Given the description of an element on the screen output the (x, y) to click on. 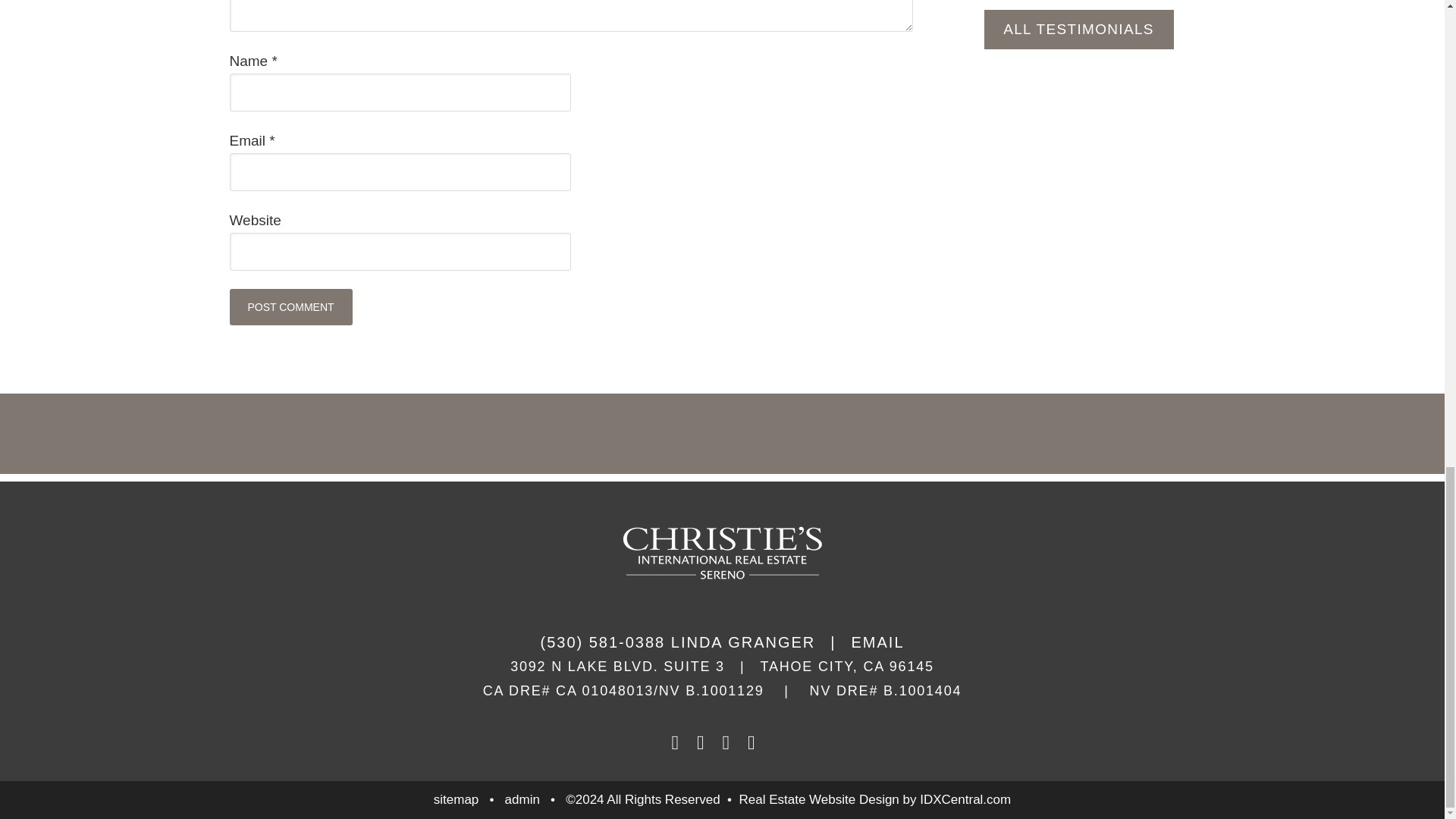
Post Comment (290, 307)
Real Estate Website Design (818, 799)
